Given the description of an element on the screen output the (x, y) to click on. 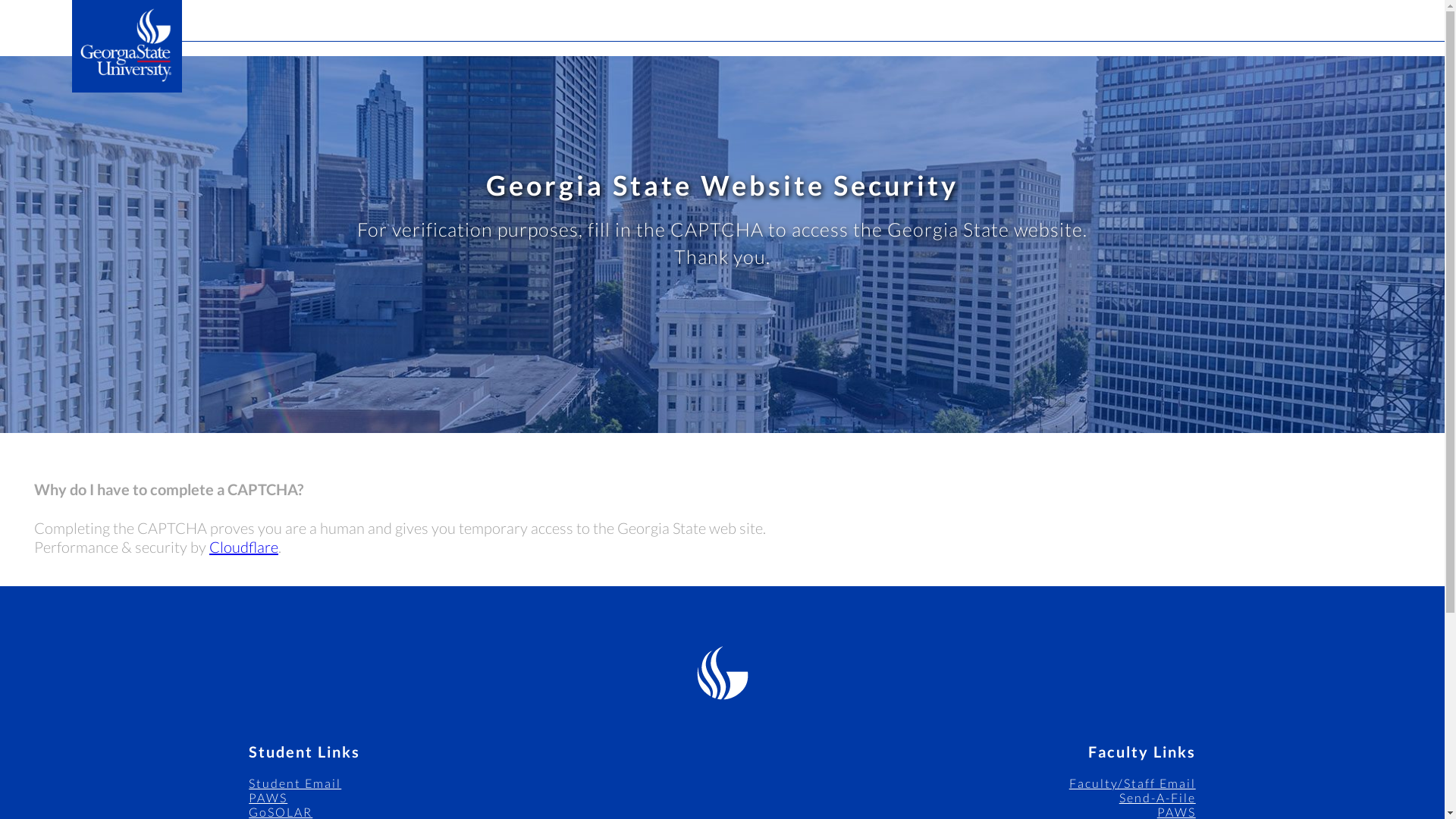
Student Email (294, 782)
Cloudflare (243, 546)
PAWS (267, 797)
Send-A-File (1157, 797)
GoSOLAR (280, 811)
PAWS (1176, 811)
